Given the description of an element on the screen output the (x, y) to click on. 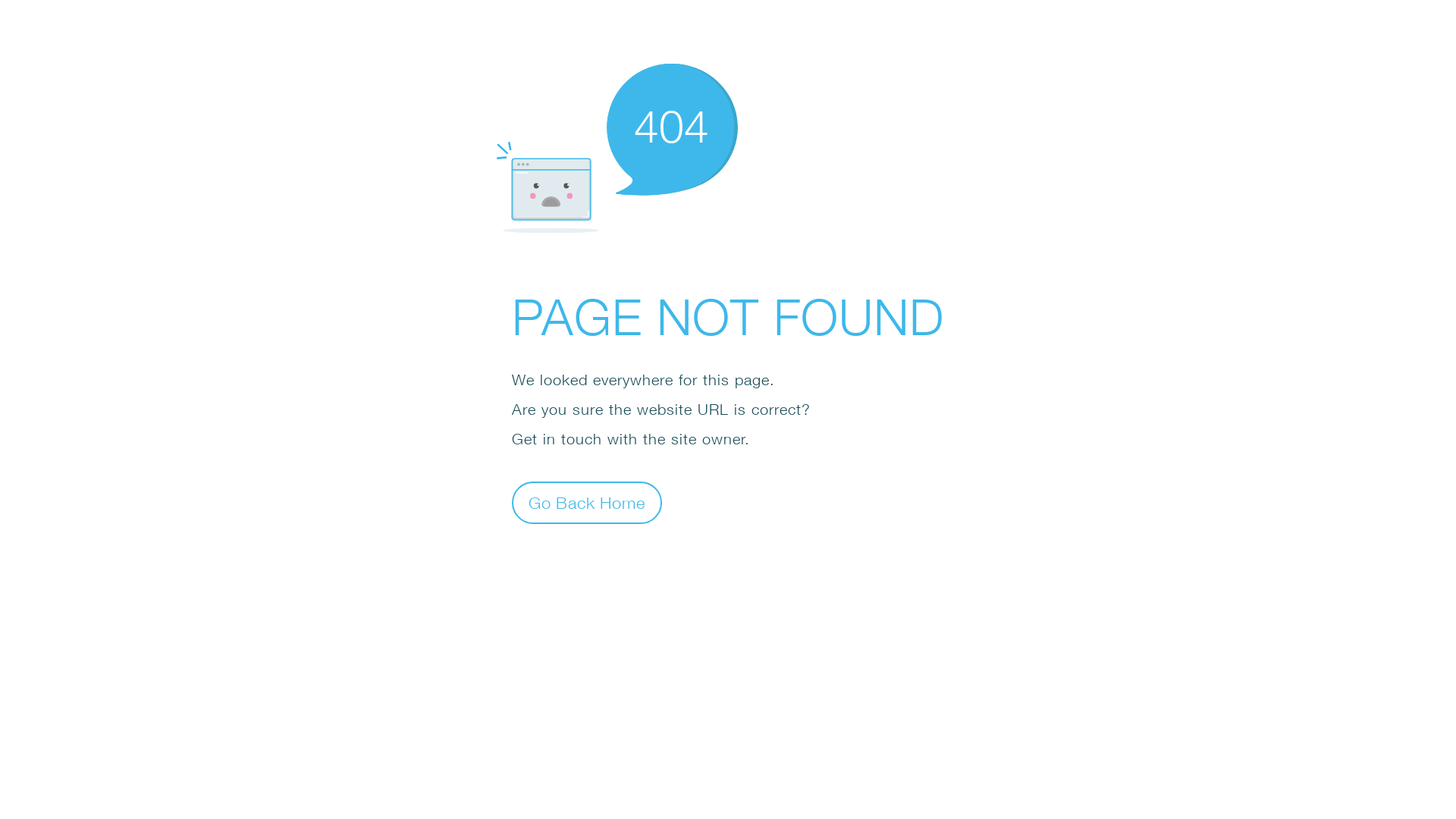
Go Back Home Element type: text (586, 502)
